Given the description of an element on the screen output the (x, y) to click on. 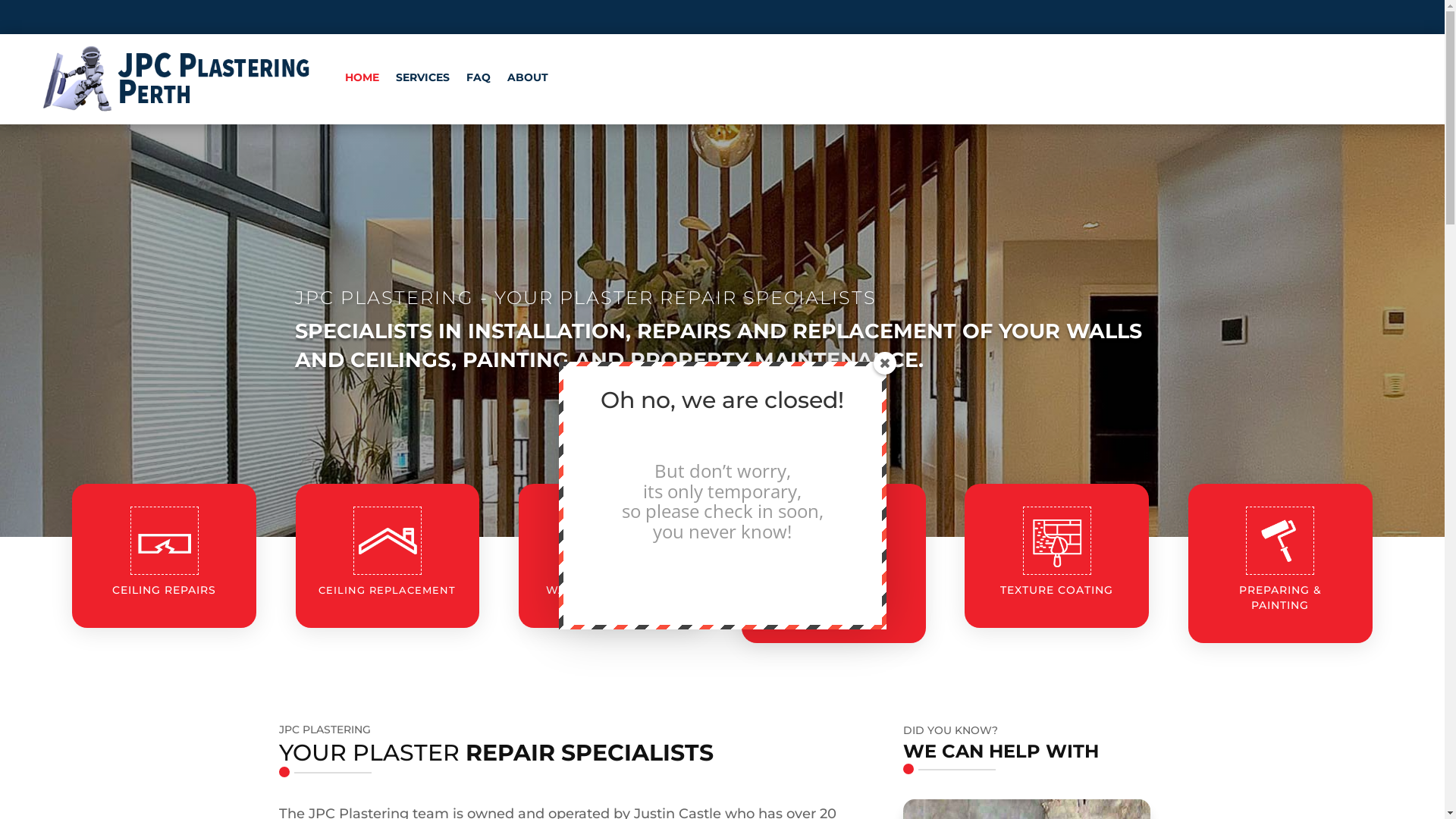
SERVICES Element type: text (422, 76)
FAQ Element type: text (478, 76)
ABOUT Element type: text (527, 76)
JPC PLASTERING - YOUR PLASTER REPAIR SPECIALISTS Element type: text (585, 297)
HOME Element type: text (362, 76)
